Given the description of an element on the screen output the (x, y) to click on. 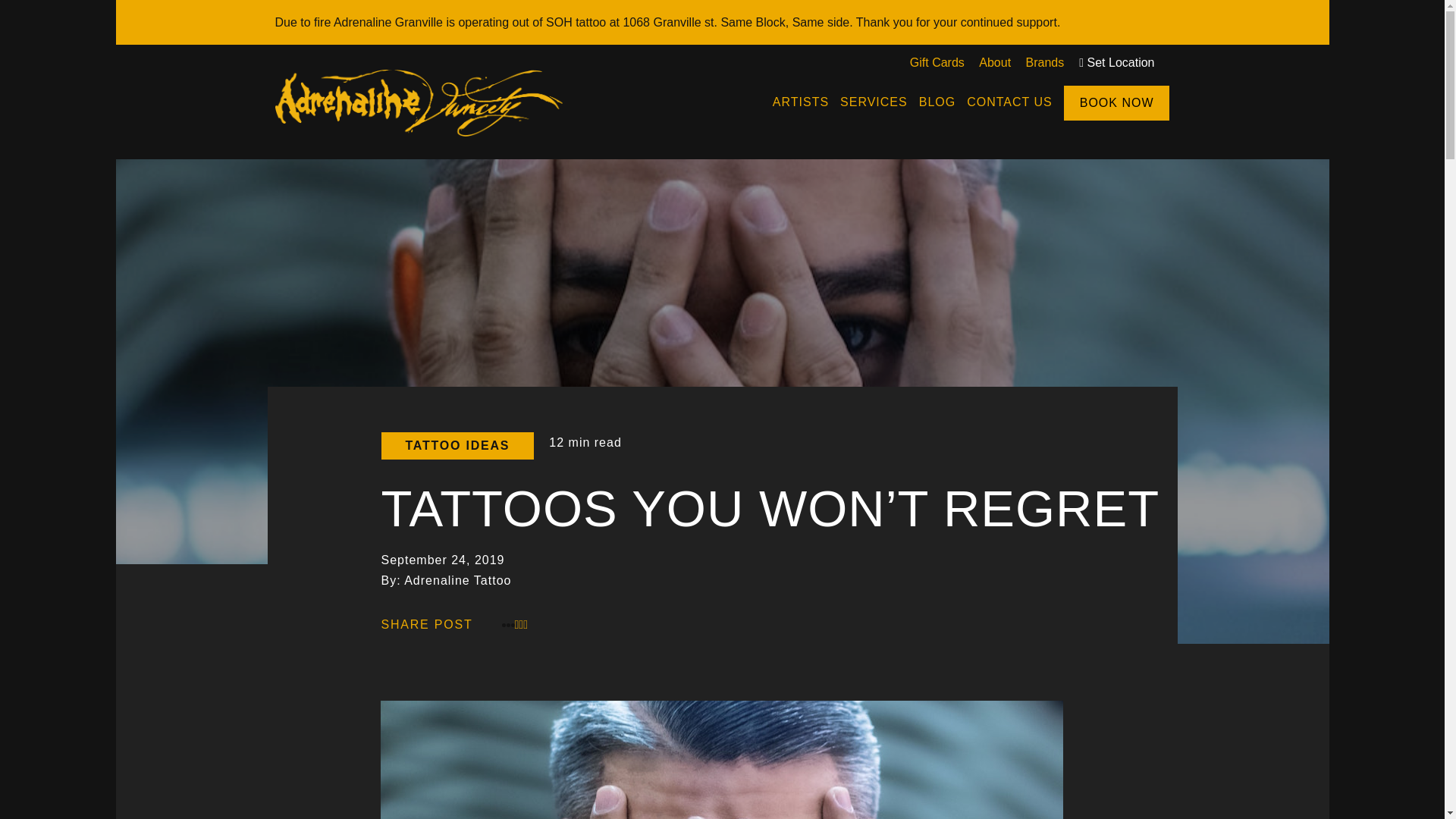
CONTACT US (1009, 101)
Adrenaline Tattoo (418, 128)
BOOK NOW (1117, 103)
BLOG (936, 101)
Brands (1045, 62)
About (994, 62)
SERVICES (873, 101)
ARTISTS (800, 101)
Set Location (1116, 62)
Gift Cards (936, 62)
